Given the description of an element on the screen output the (x, y) to click on. 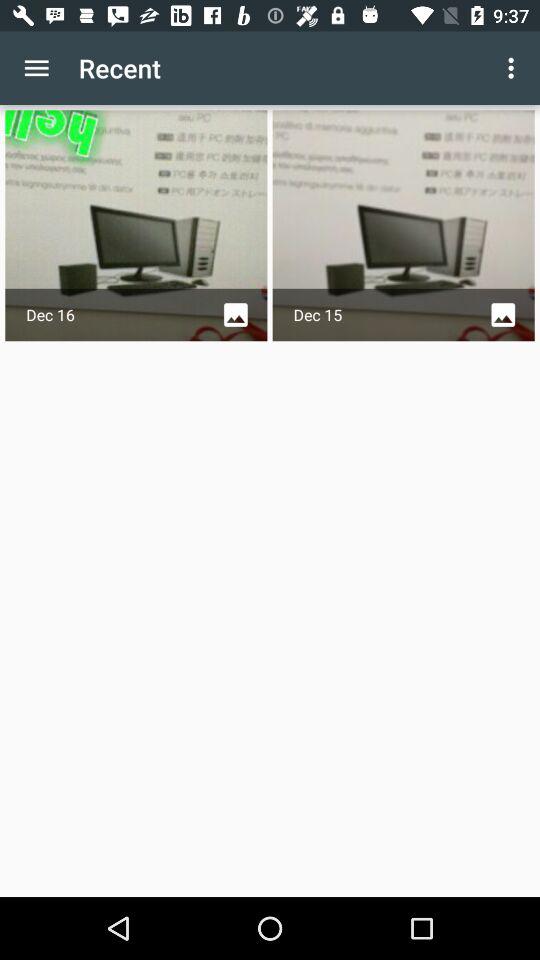
press the item to the left of recent (36, 68)
